Given the description of an element on the screen output the (x, y) to click on. 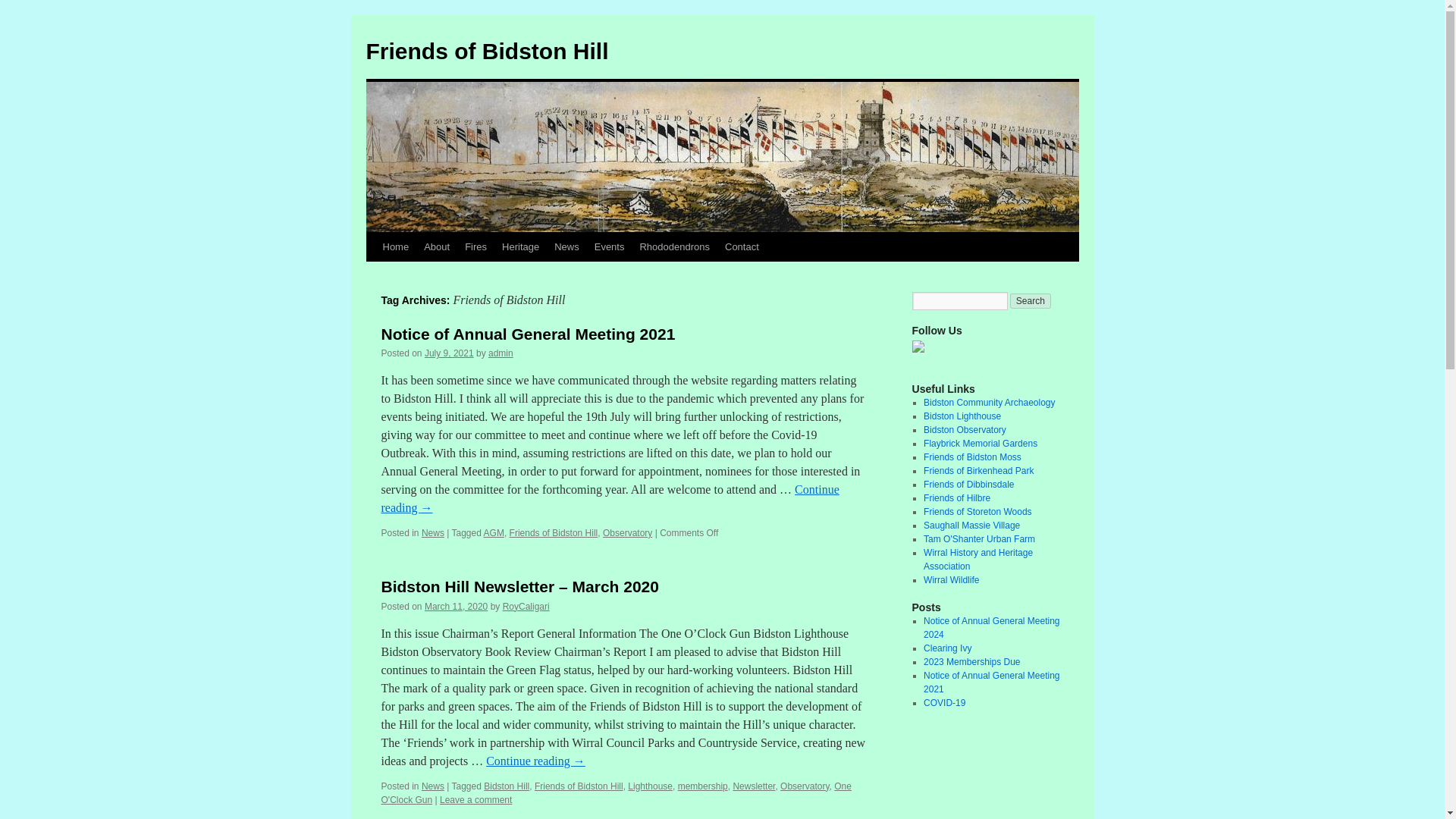
Fires (476, 246)
View all posts by admin (500, 353)
Friends of Bidston Hill (553, 532)
Notice of Annual General Meeting 2021 (527, 334)
View all posts by RoyCaligari (526, 606)
11:10 am (449, 353)
About the Friends of Bidston Hill (436, 246)
AGM (493, 532)
Rhododendrons (674, 246)
News (433, 532)
